Given the description of an element on the screen output the (x, y) to click on. 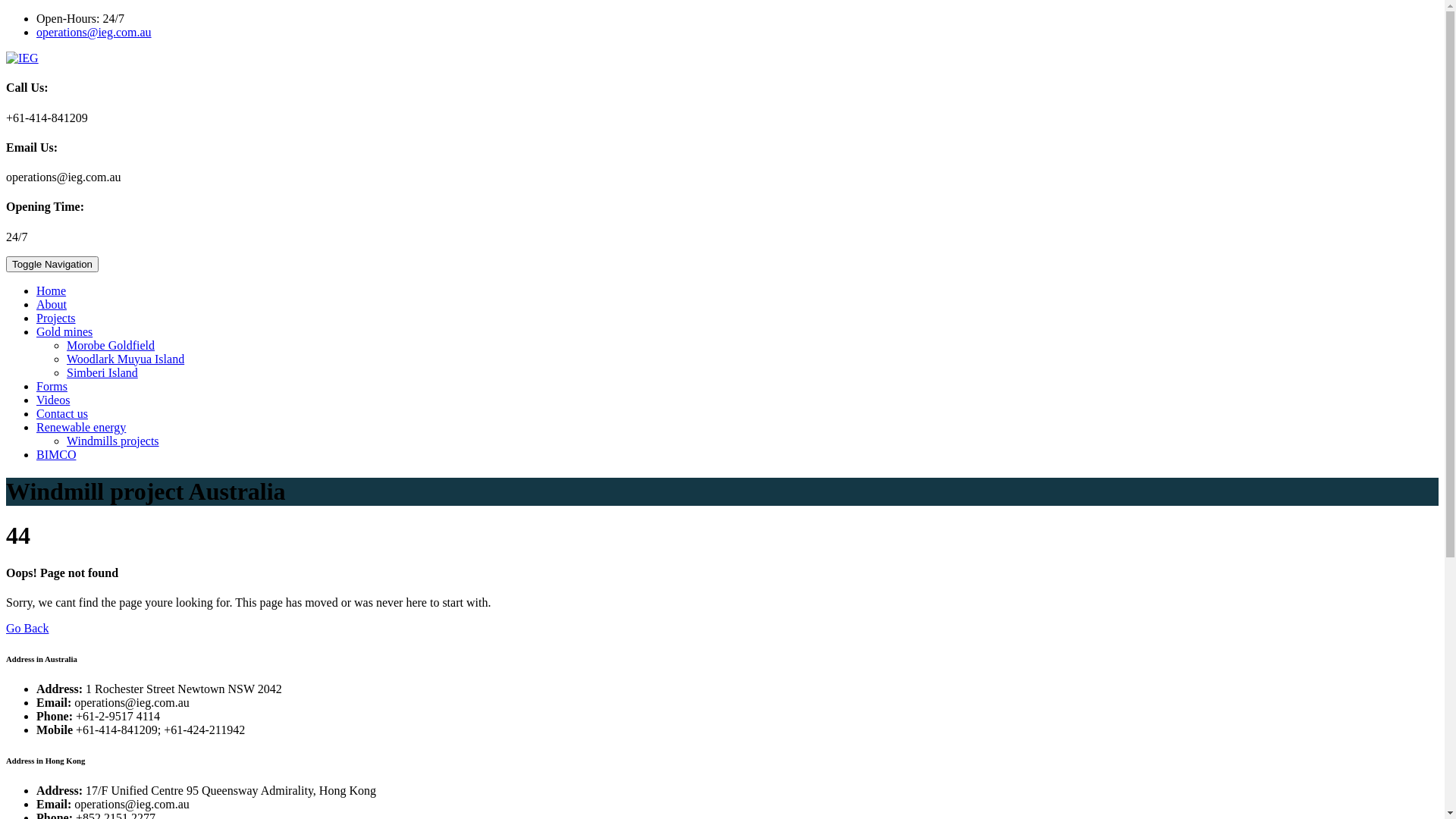
Open-Hours: 24/7 Element type: text (80, 18)
operations@ieg.com.au Element type: text (93, 31)
About Element type: text (51, 304)
Simberi Island Element type: text (102, 372)
Windmills projects Element type: text (112, 440)
BIMCO Element type: text (55, 454)
Contact us Element type: text (61, 413)
Morobe Goldfield Element type: text (110, 344)
Toggle Navigation Element type: text (52, 264)
Gold mines Element type: text (64, 331)
Home Element type: text (50, 290)
Forms Element type: text (51, 385)
Projects Element type: text (55, 317)
Videos Element type: text (52, 399)
Woodlark Muyua Island Element type: text (125, 358)
Renewable energy Element type: text (80, 426)
Go Back Element type: text (27, 627)
